Given the description of an element on the screen output the (x, y) to click on. 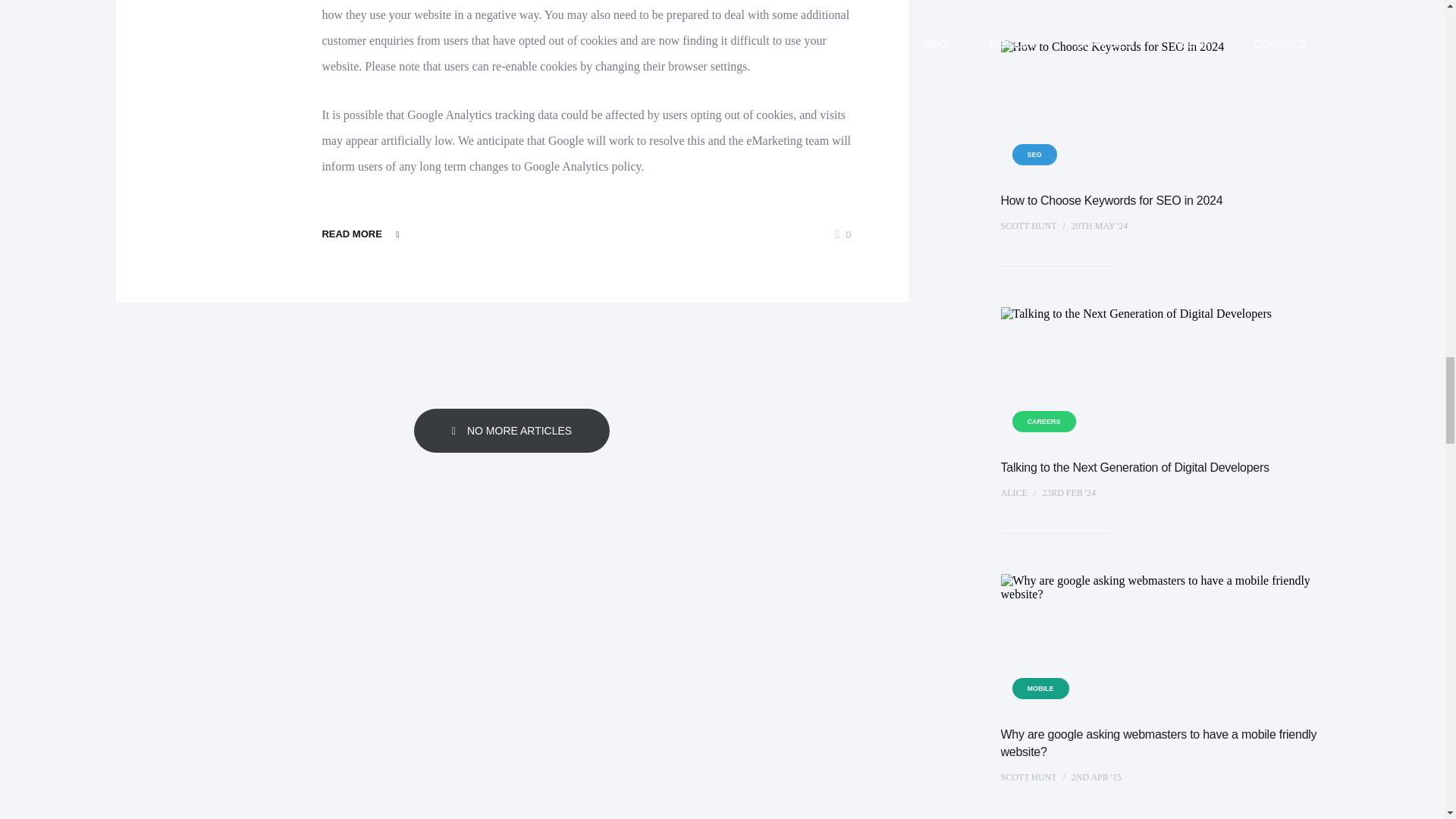
READ MORE (362, 233)
0 (842, 234)
